Given the description of an element on the screen output the (x, y) to click on. 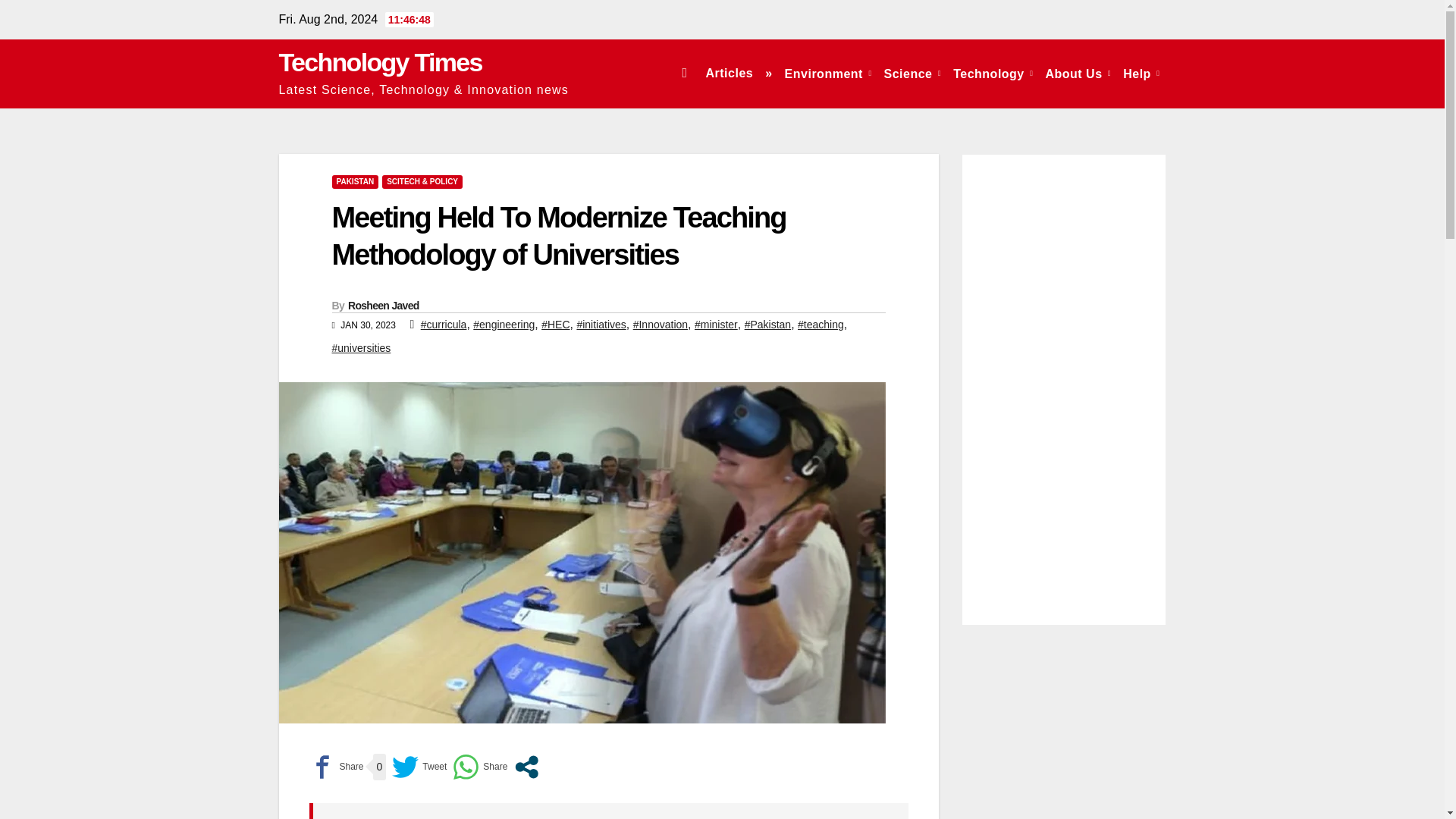
Technology (993, 73)
Science (912, 73)
Science (912, 73)
About Us (1077, 73)
Environment (827, 73)
Technology (993, 73)
Environment (827, 73)
Technology Times (380, 61)
